Given the description of an element on the screen output the (x, y) to click on. 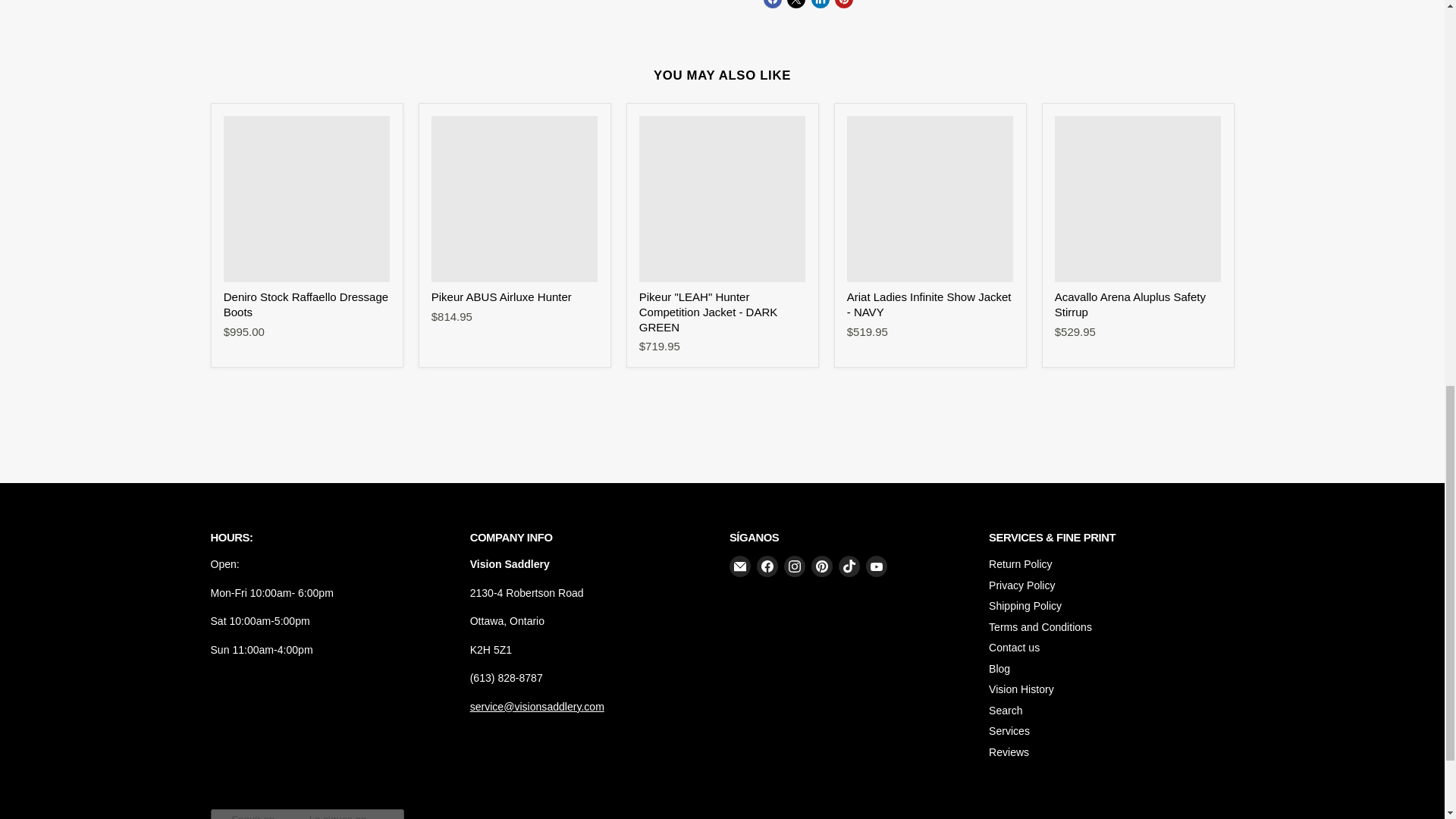
TikTok (849, 566)
Instagram (794, 566)
Pinterest (821, 566)
YouTube (876, 566)
Facebook (767, 566)
